Given the description of an element on the screen output the (x, y) to click on. 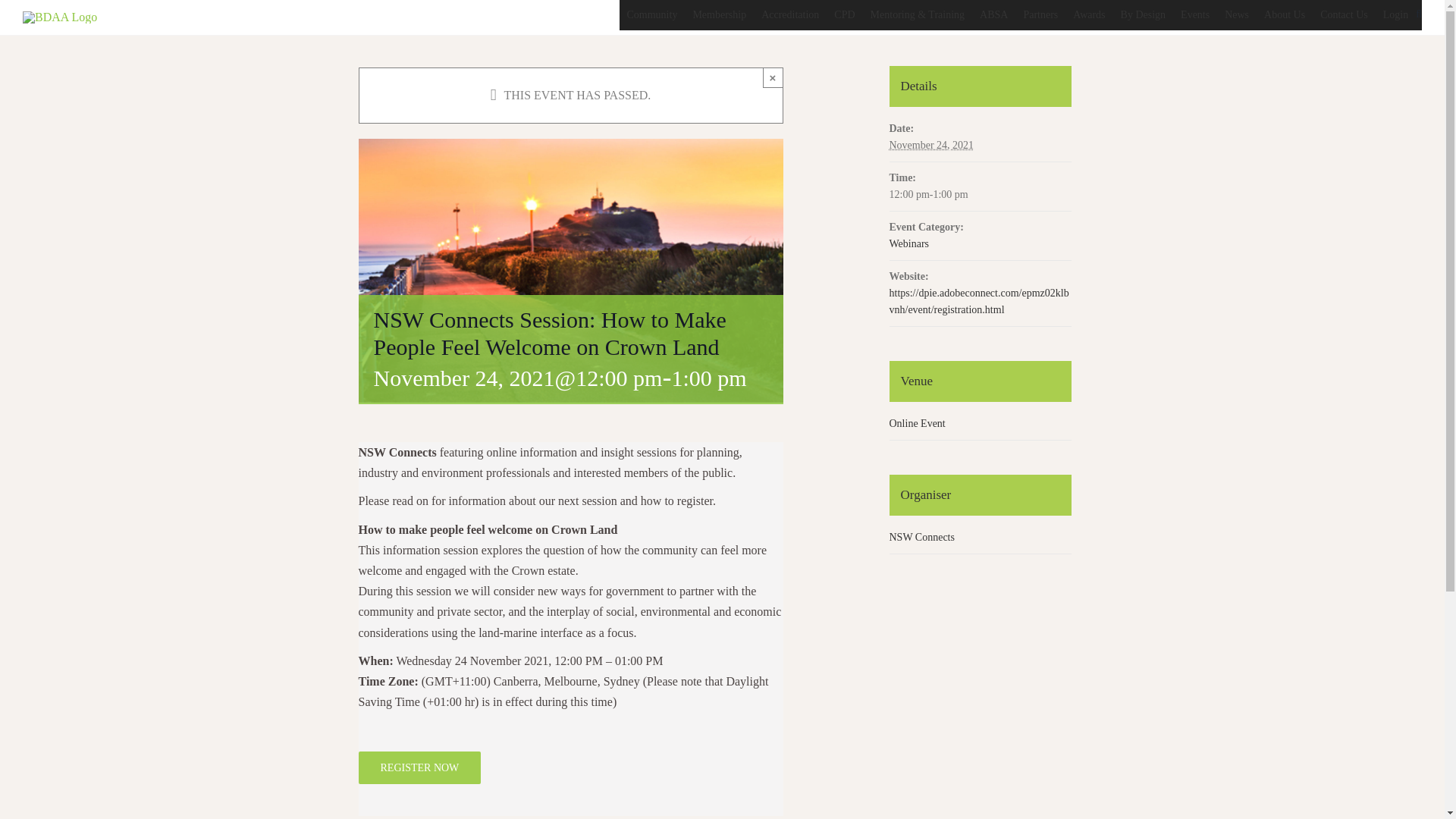
Accreditation (790, 15)
2021-11-24 (979, 194)
ABSA (993, 15)
2021-11-24 (931, 144)
CPD (844, 15)
Community (651, 15)
Partners (1039, 15)
Membership (719, 15)
NSW Connects (920, 536)
